Given the description of an element on the screen output the (x, y) to click on. 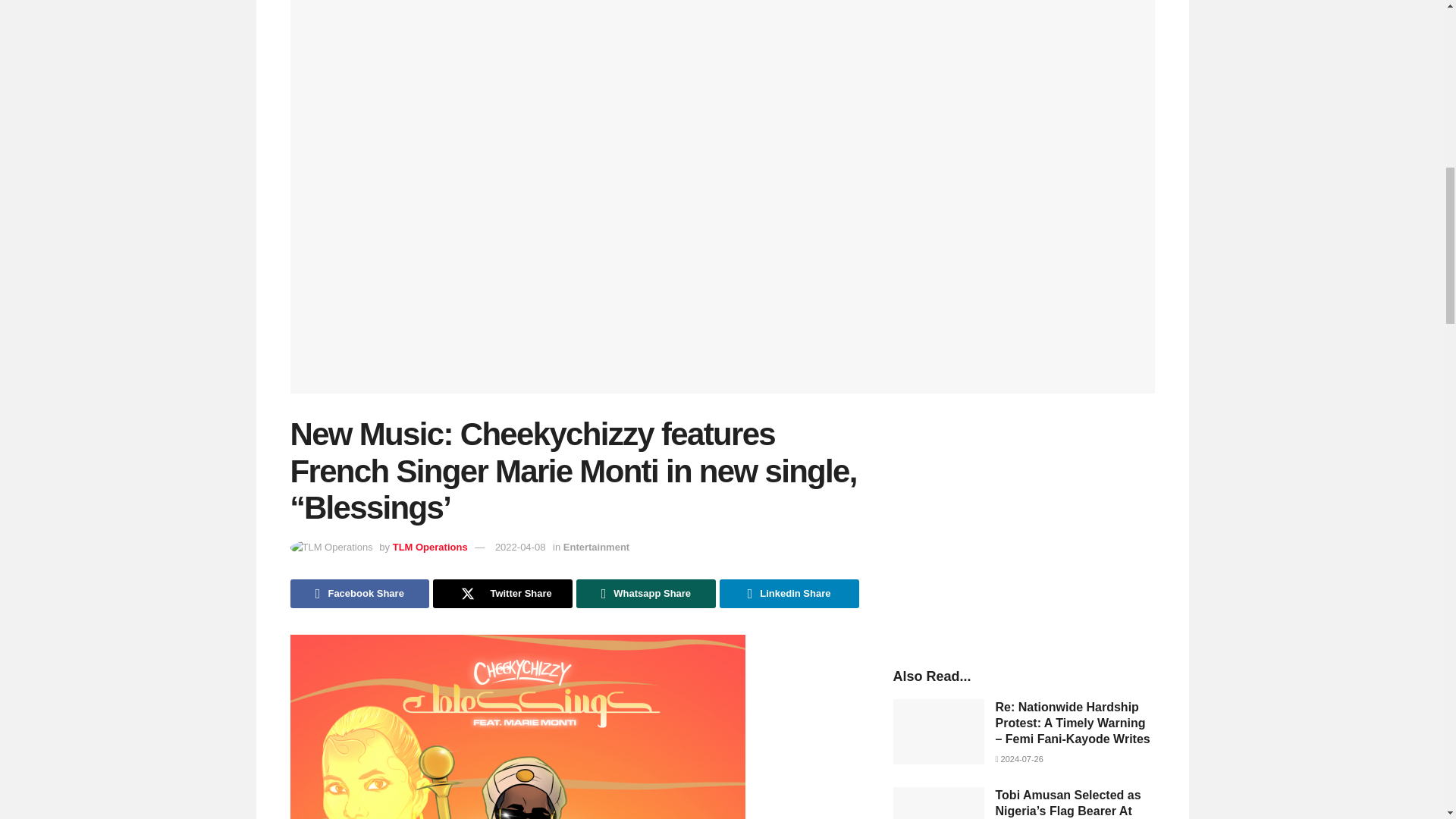
2022-04-08 (520, 546)
Linkedin Share (789, 593)
TLM Operations (430, 546)
Entertainment (595, 546)
Whatsapp Share (646, 593)
Advertisement (1023, 525)
Twitter Share (502, 593)
Facebook Share (359, 593)
